Given the description of an element on the screen output the (x, y) to click on. 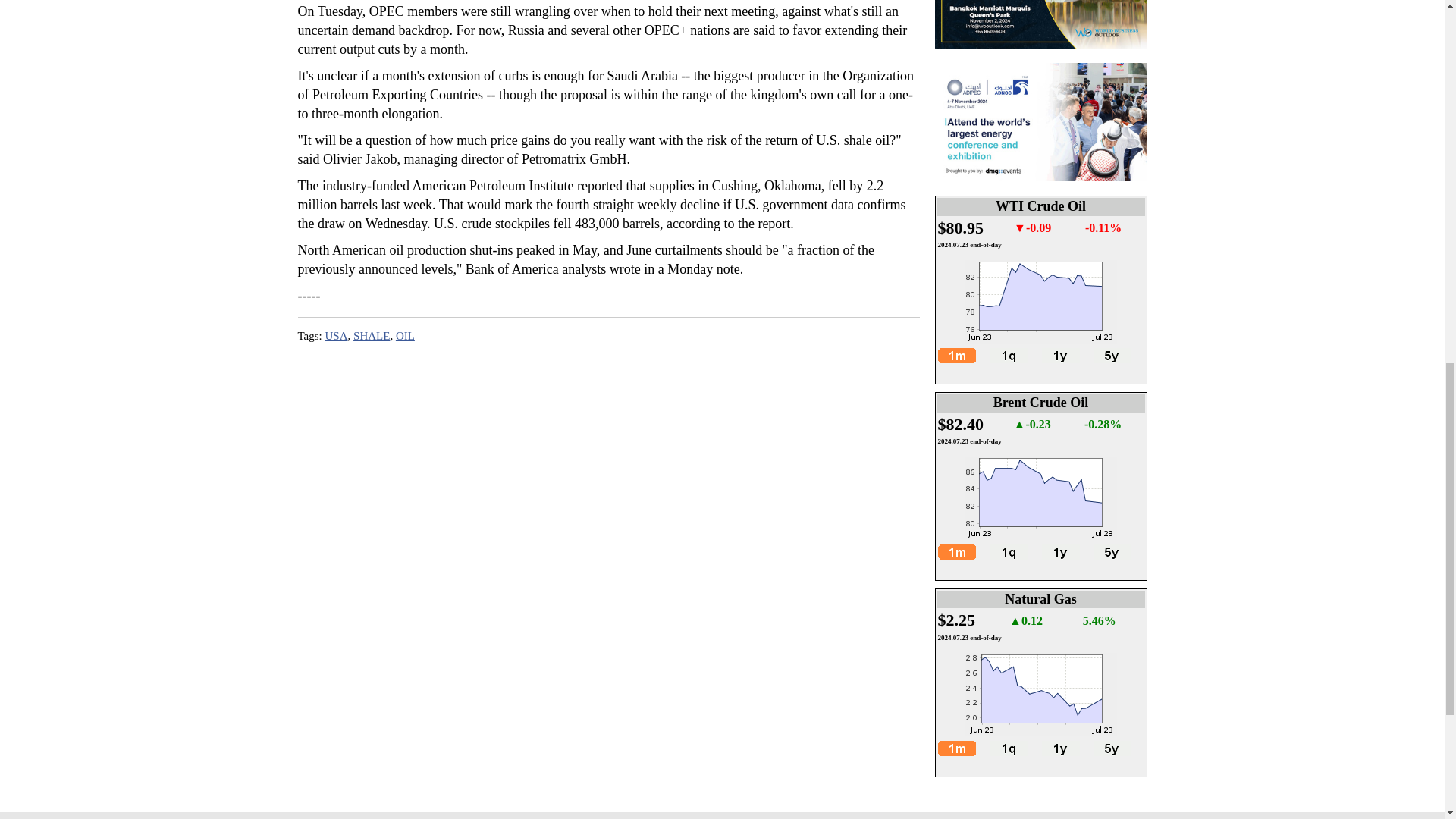
ADIPEC 2024, Abu Dhabi, 4-7 November 2024 (1040, 121)
World Business Outlook, November 2, 2024, Bangkok, Thailand (1040, 24)
ADIPEC 2024, Abu Dhabi, 4-7 November 2024 (1040, 254)
